Given the description of an element on the screen output the (x, y) to click on. 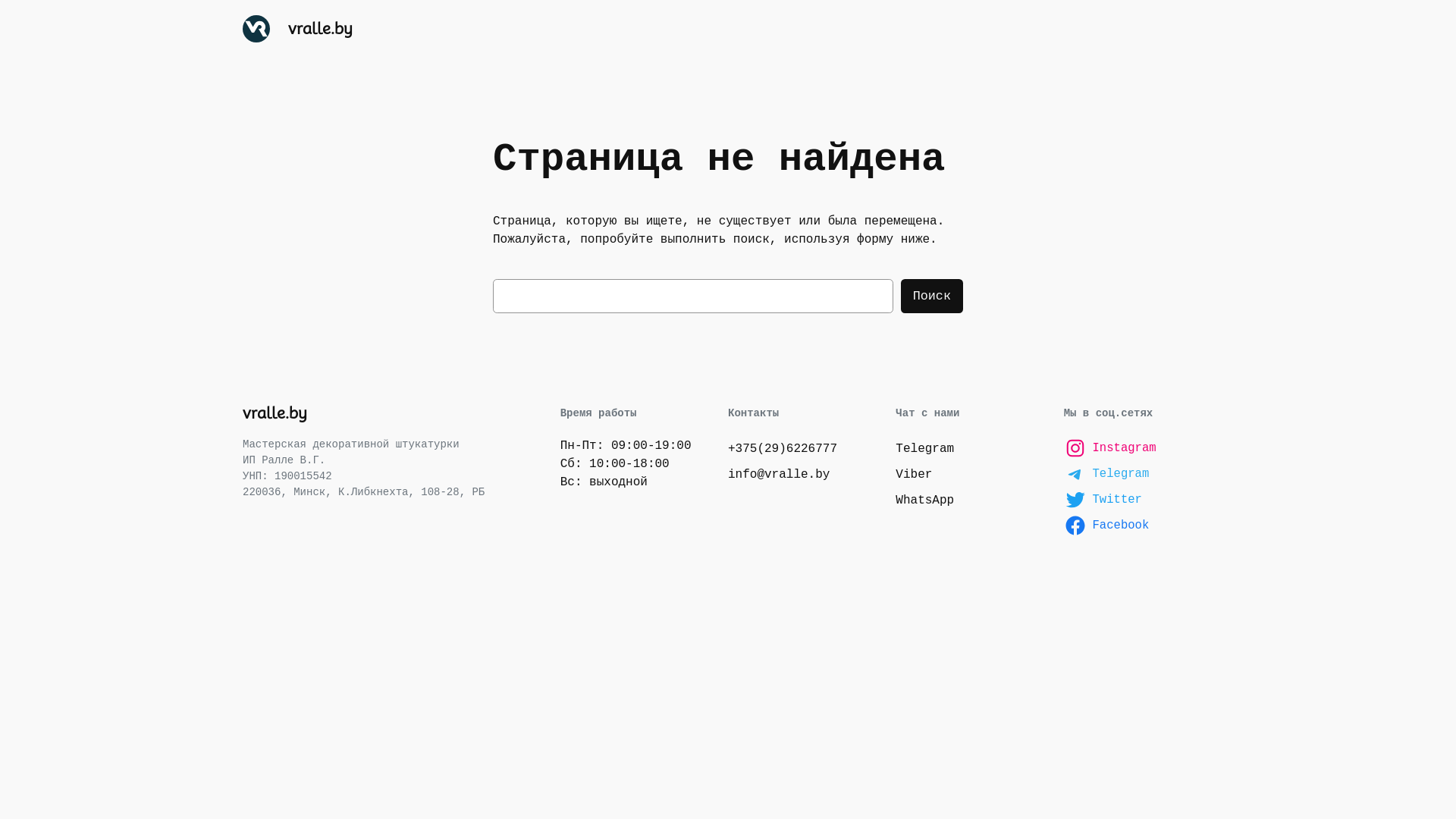
vralle.by Element type: text (320, 28)
Twitter Element type: text (1138, 499)
Viber Element type: text (913, 474)
WhatsApp Element type: text (924, 500)
Instagram Element type: text (1138, 447)
Facebook Element type: text (1138, 525)
+375(29)6226777 Element type: text (782, 448)
vralle.by Element type: text (274, 413)
Telegram Element type: text (1138, 473)
Telegram Element type: text (924, 448)
info@vralle.by Element type: text (778, 474)
